Given the description of an element on the screen output the (x, y) to click on. 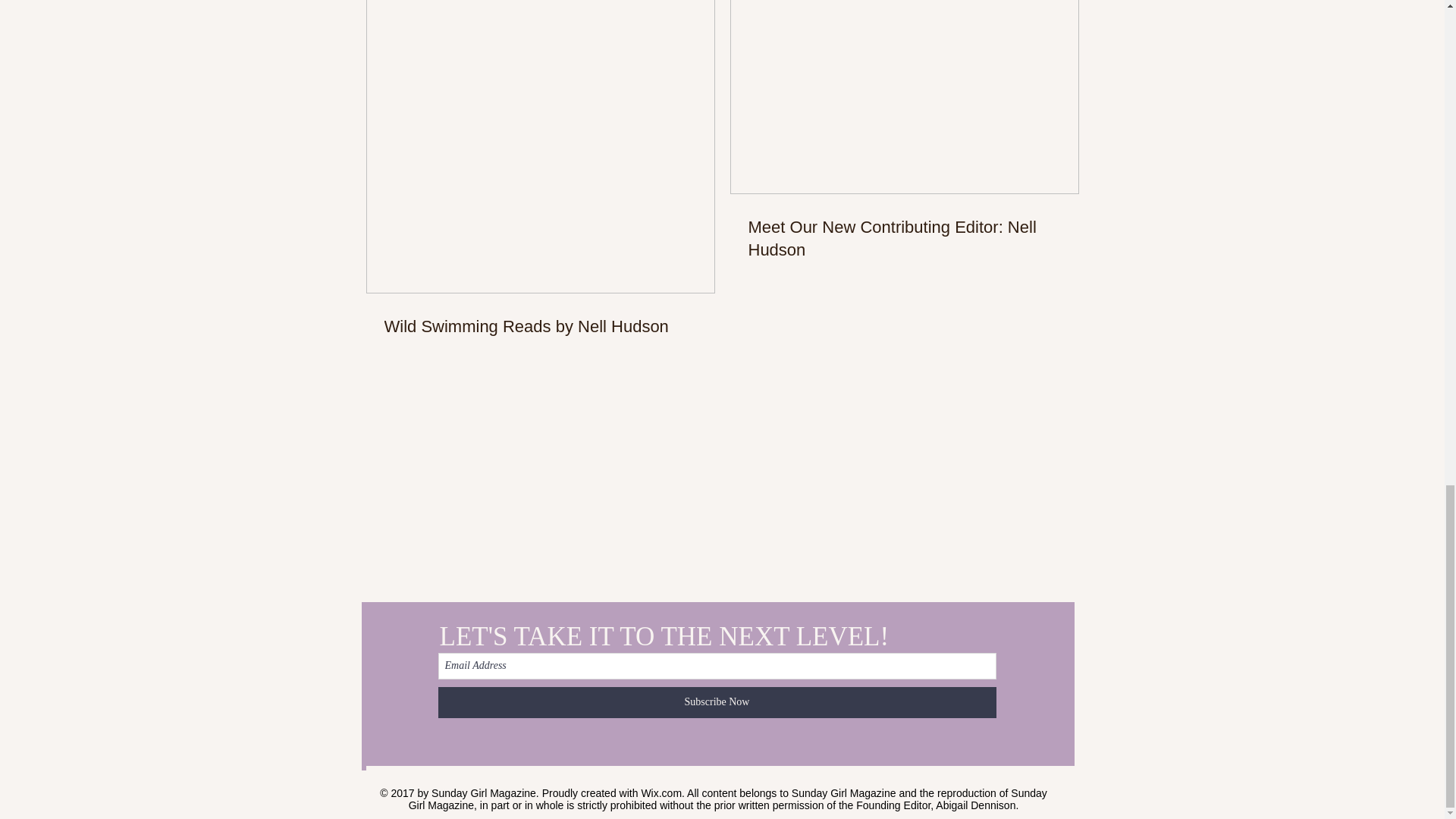
Subscribe Now (716, 702)
Meet Our New Contributing Editor: Nell Hudson (903, 238)
Wild Swimming Reads by Nell Hudson (539, 327)
